Given the description of an element on the screen output the (x, y) to click on. 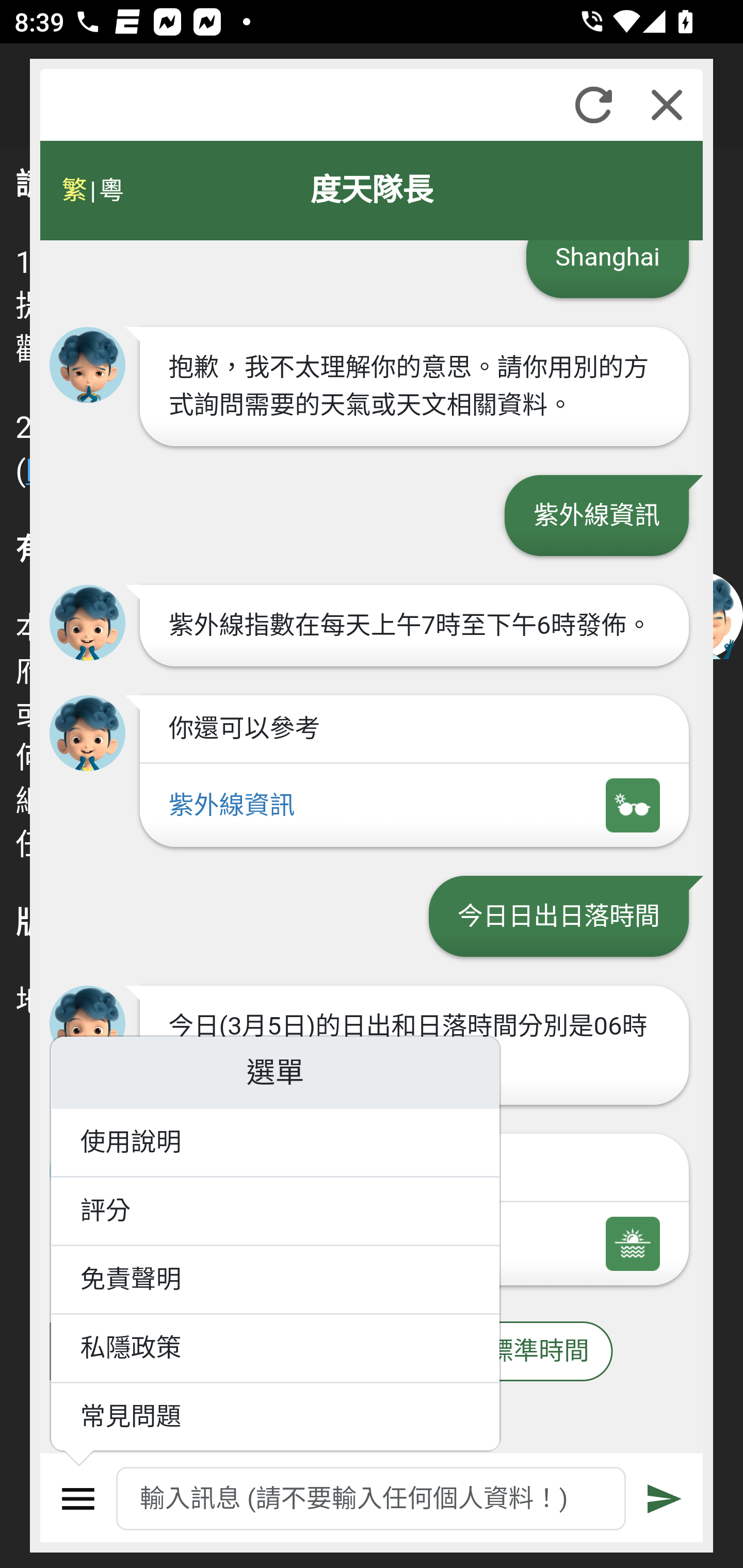
重新整理 (593, 104)
關閉 (666, 104)
繁 (73, 190)
粵 (110, 190)
紫外線資訊 (413, 805)
使用說明 (275, 1143)
評分 (275, 1211)
免責聲明 (275, 1279)
私隱政策 (275, 1348)
常見問題 (275, 1416)
選單 (78, 1498)
遞交 (665, 1498)
